Given the description of an element on the screen output the (x, y) to click on. 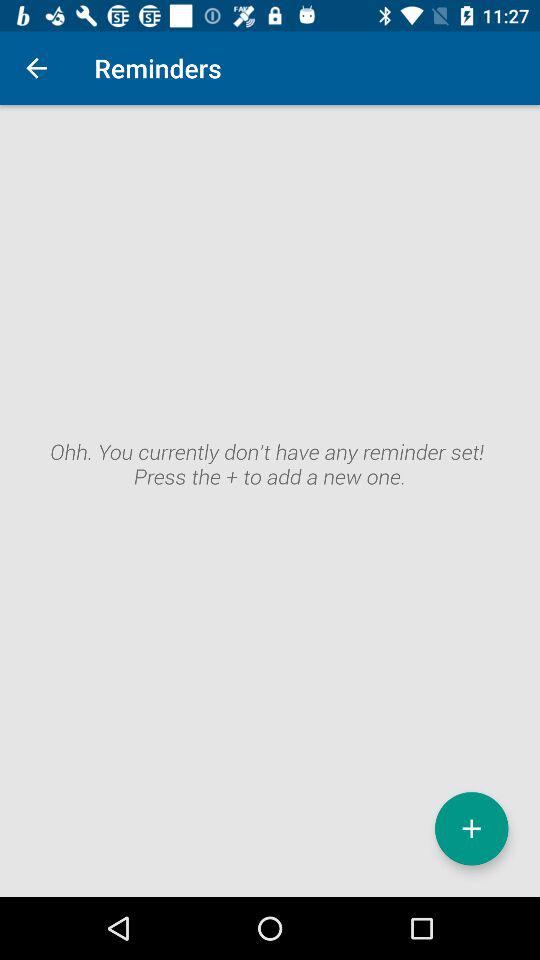
add reminder (471, 828)
